Given the description of an element on the screen output the (x, y) to click on. 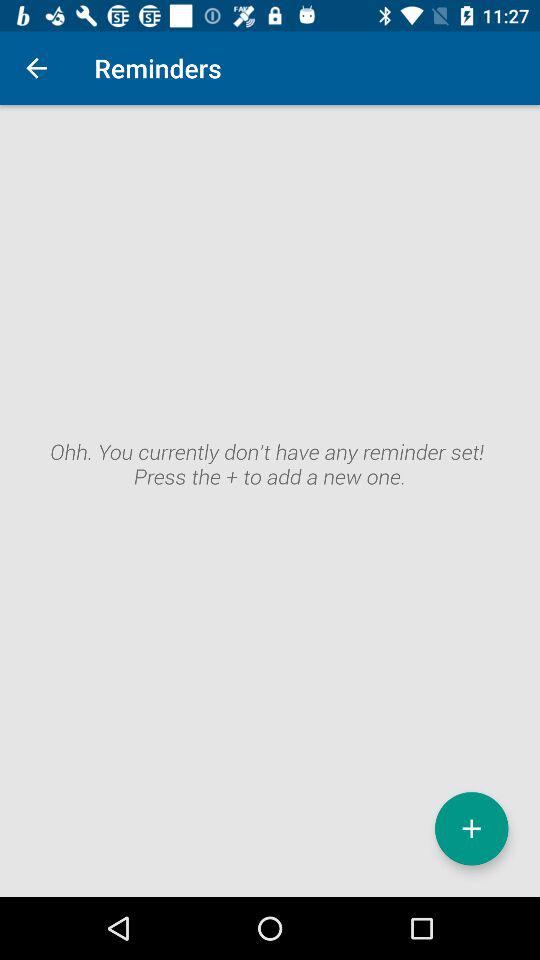
add reminder (471, 828)
